Given the description of an element on the screen output the (x, y) to click on. 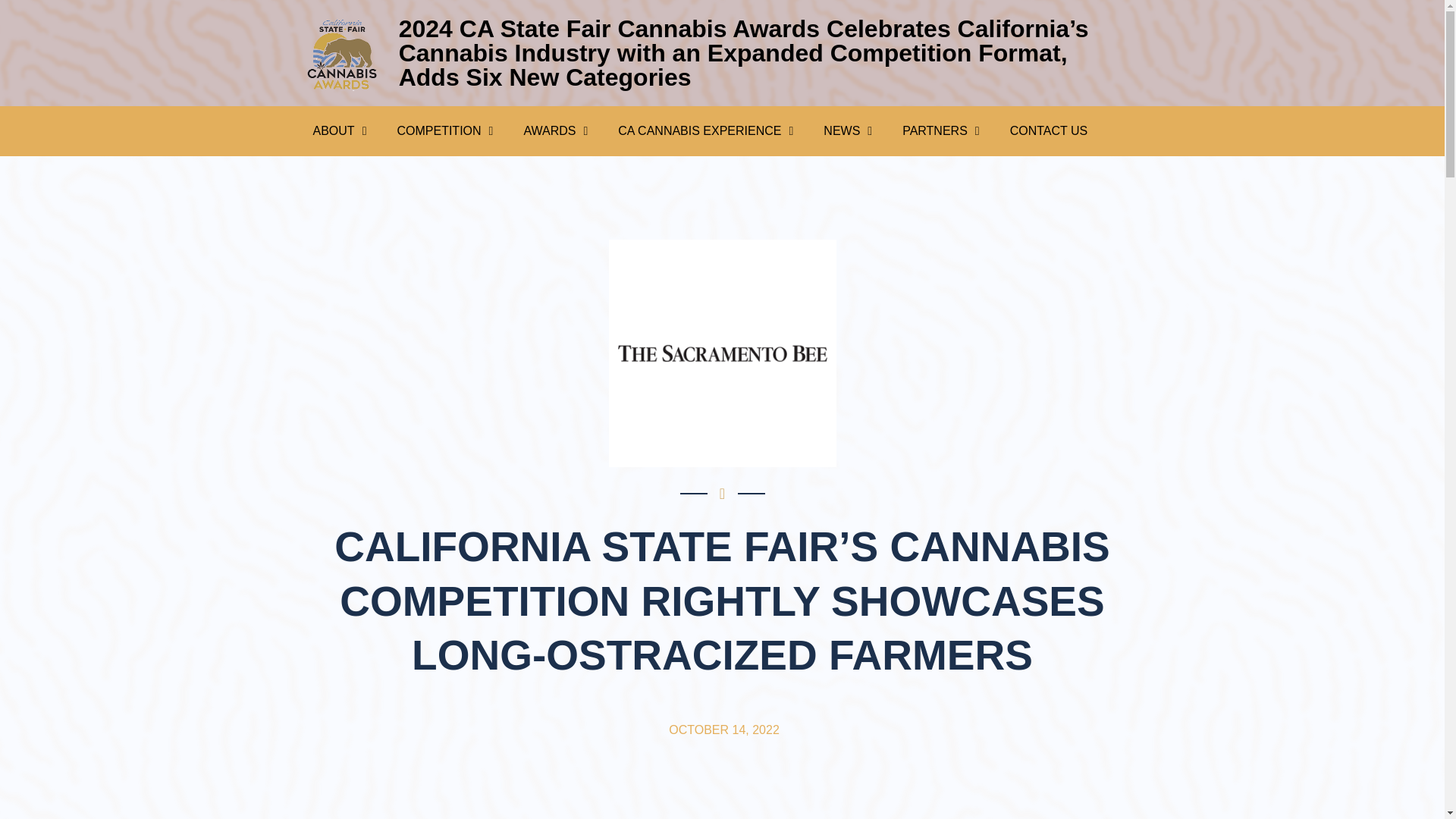
AWARDS (555, 130)
NEWS (847, 130)
ABOUT (339, 130)
CA CANNABIS EXPERIENCE (705, 130)
PARTNERS (940, 130)
CONTACT US (1048, 130)
COMPETITION (444, 130)
